Given the description of an element on the screen output the (x, y) to click on. 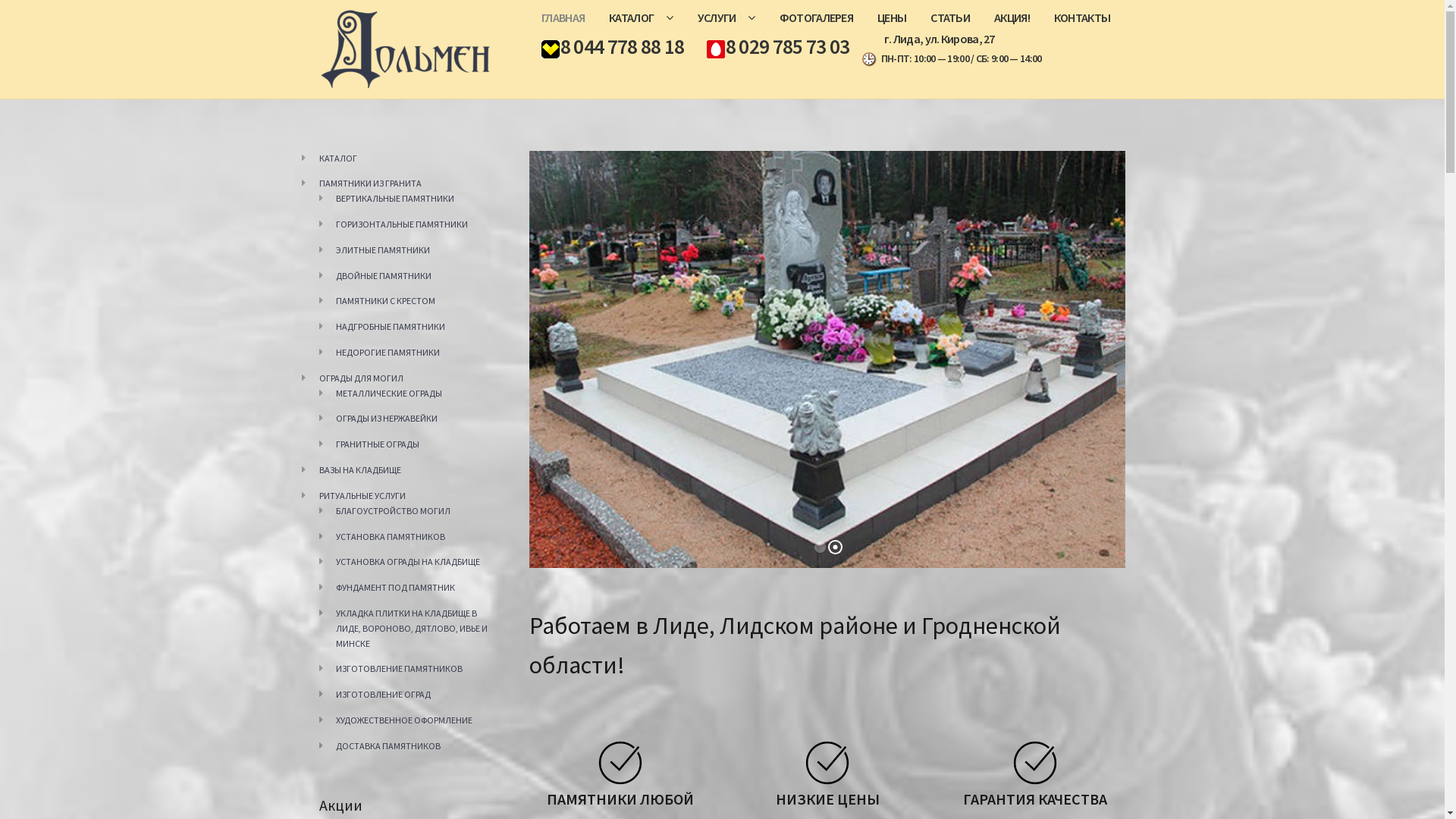
8 029 785 73 03 Element type: text (776, 47)
8 044 778 88 18 Element type: text (611, 47)
